Given the description of an element on the screen output the (x, y) to click on. 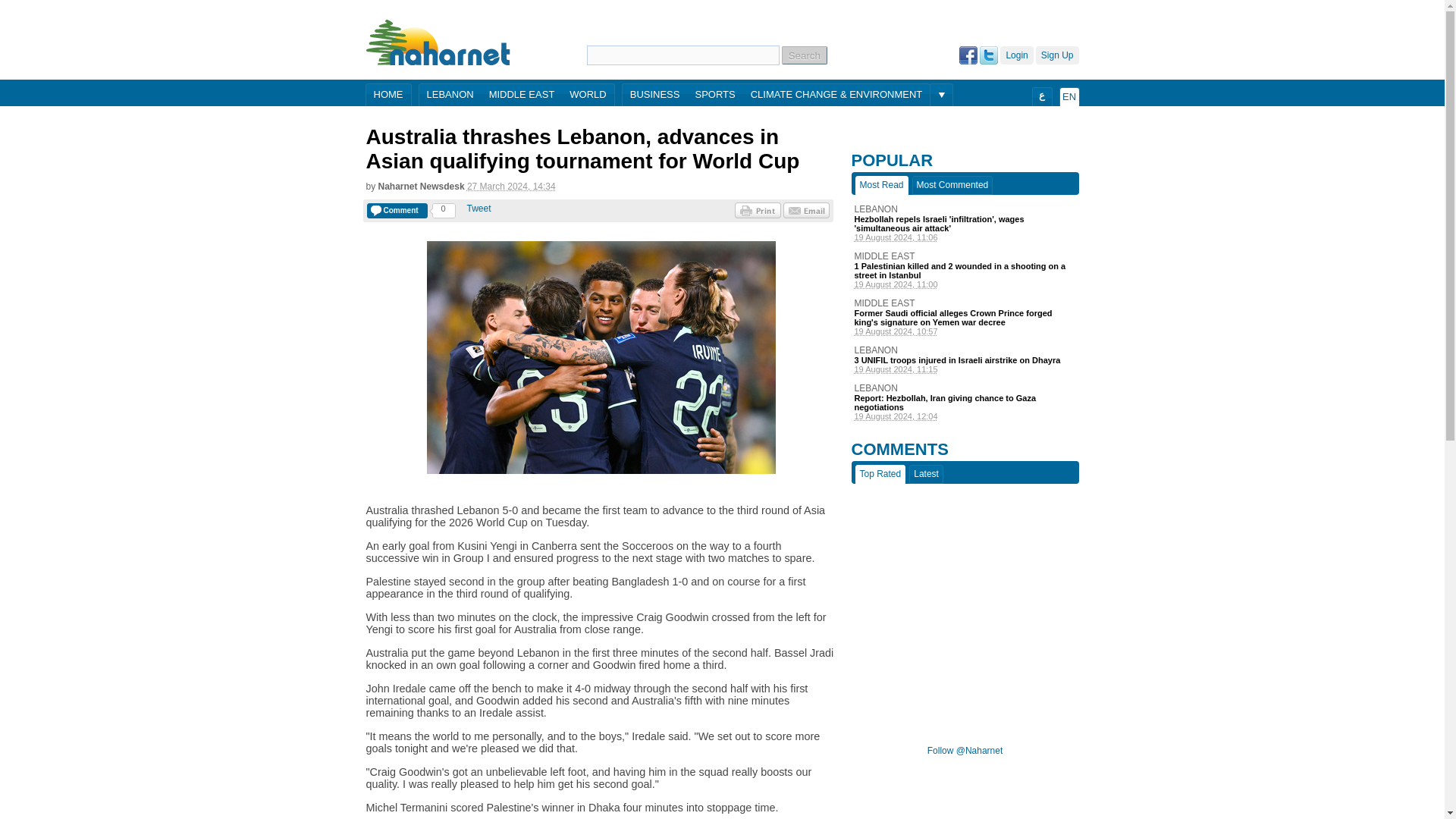
3 UNIFIL troops injured in Israeli airstrike on Dhayra (964, 359)
Comment (397, 210)
LEBANON (964, 388)
2024-08-19T09:04:51Z (964, 415)
2024-08-19T08:15:31Z (964, 368)
LEBANON (964, 349)
2024-03-27T12:34:44Z (511, 185)
MIDDLE EAST (521, 95)
Naharnet (438, 41)
